Given the description of an element on the screen output the (x, y) to click on. 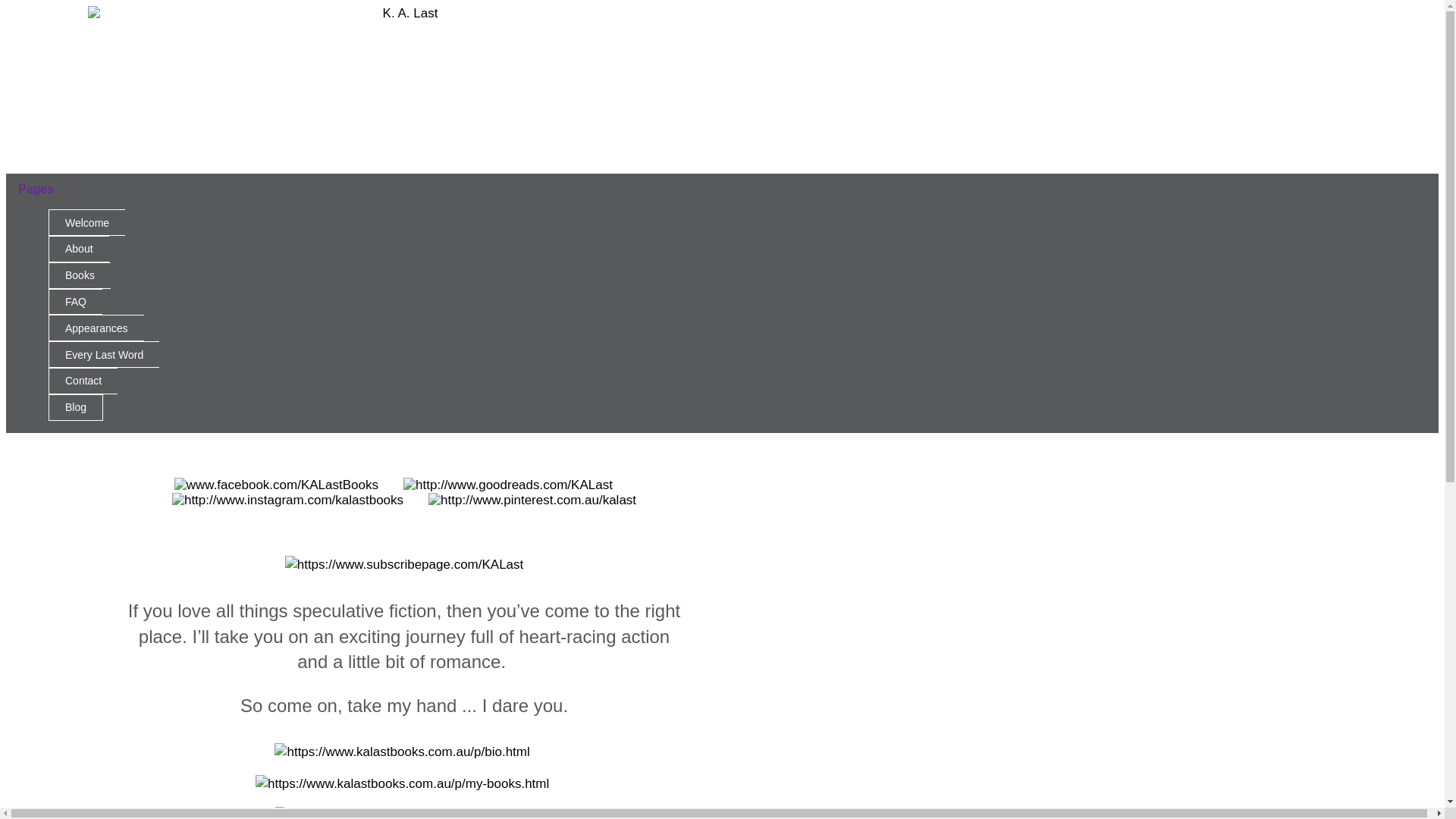
Books Element type: text (79, 275)
Appearances Element type: text (96, 327)
About Element type: text (78, 248)
Blog Element type: text (75, 407)
Welcome Element type: text (86, 222)
FAQ Element type: text (75, 301)
Every Last Word Element type: text (103, 354)
Contact Element type: text (82, 380)
